Given the description of an element on the screen output the (x, y) to click on. 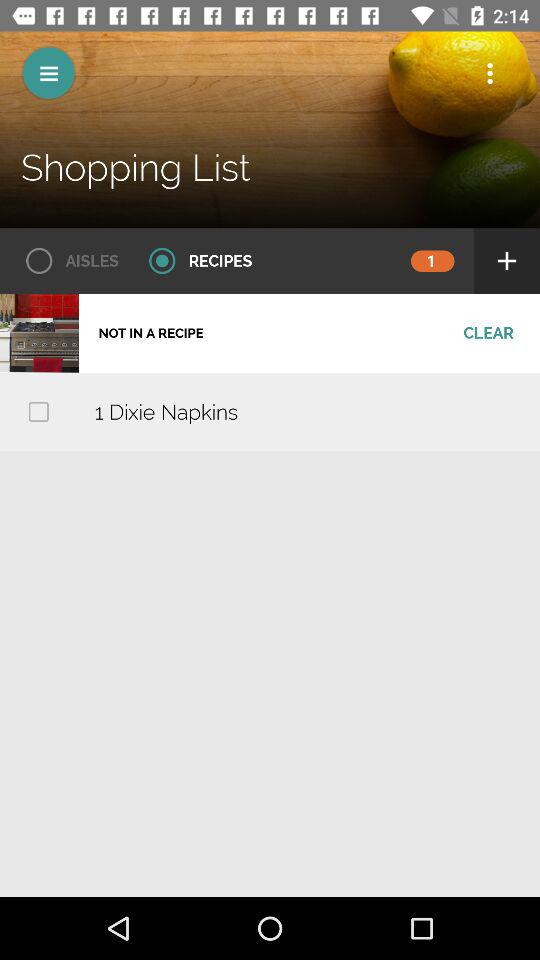
to do list marker (38, 411)
